Given the description of an element on the screen output the (x, y) to click on. 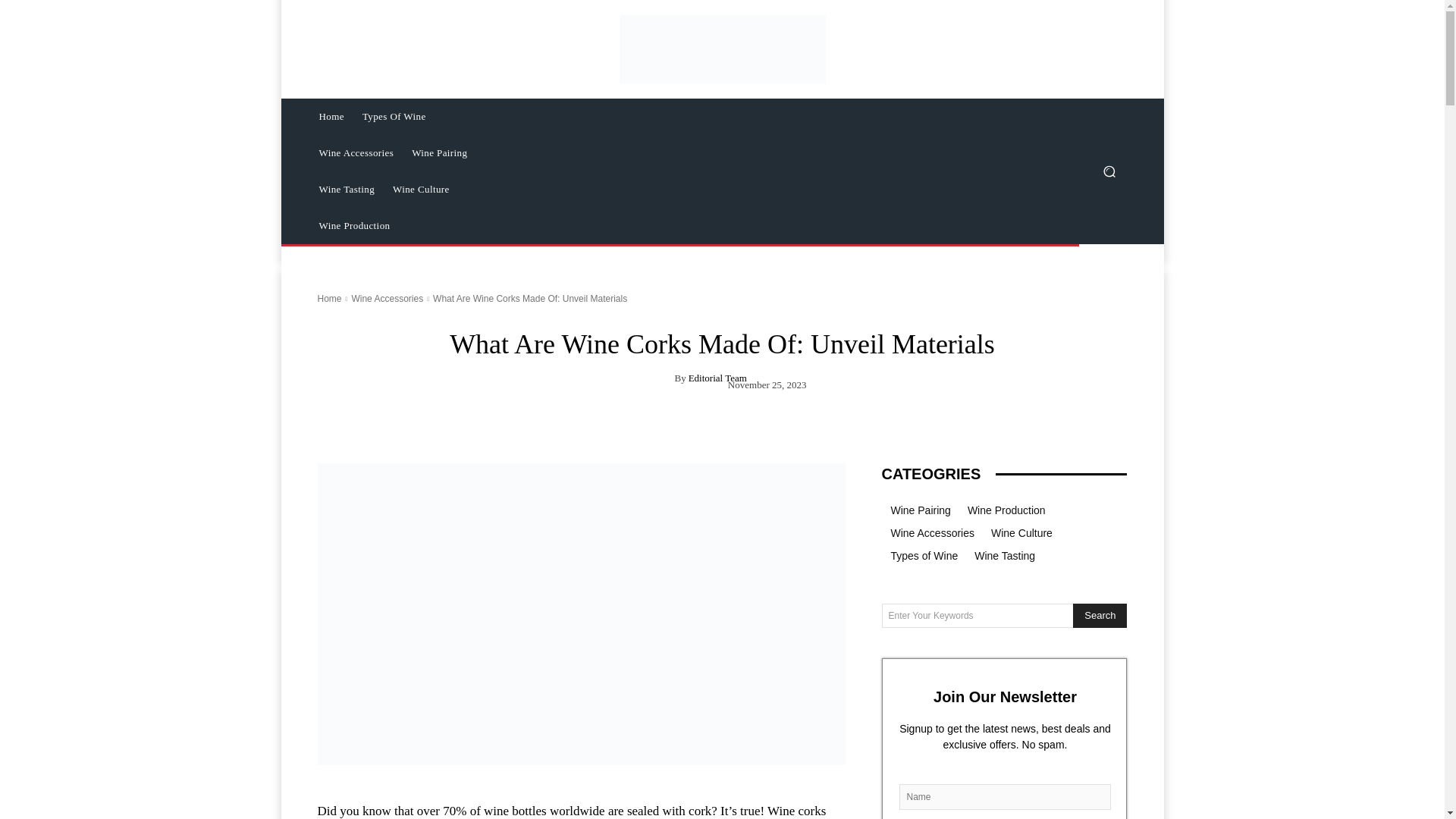
Wine Pairing (439, 153)
Editorial Team (717, 378)
Wine Accessories (386, 298)
Home (328, 298)
Types Of Wine (394, 116)
Wine Production (353, 226)
iblWines (721, 49)
iblWines (721, 49)
Wine Culture (421, 189)
Wine Tasting (346, 189)
Home (330, 116)
Wine Accessories (355, 153)
View all posts in Wine Accessories (386, 298)
